Given the description of an element on the screen output the (x, y) to click on. 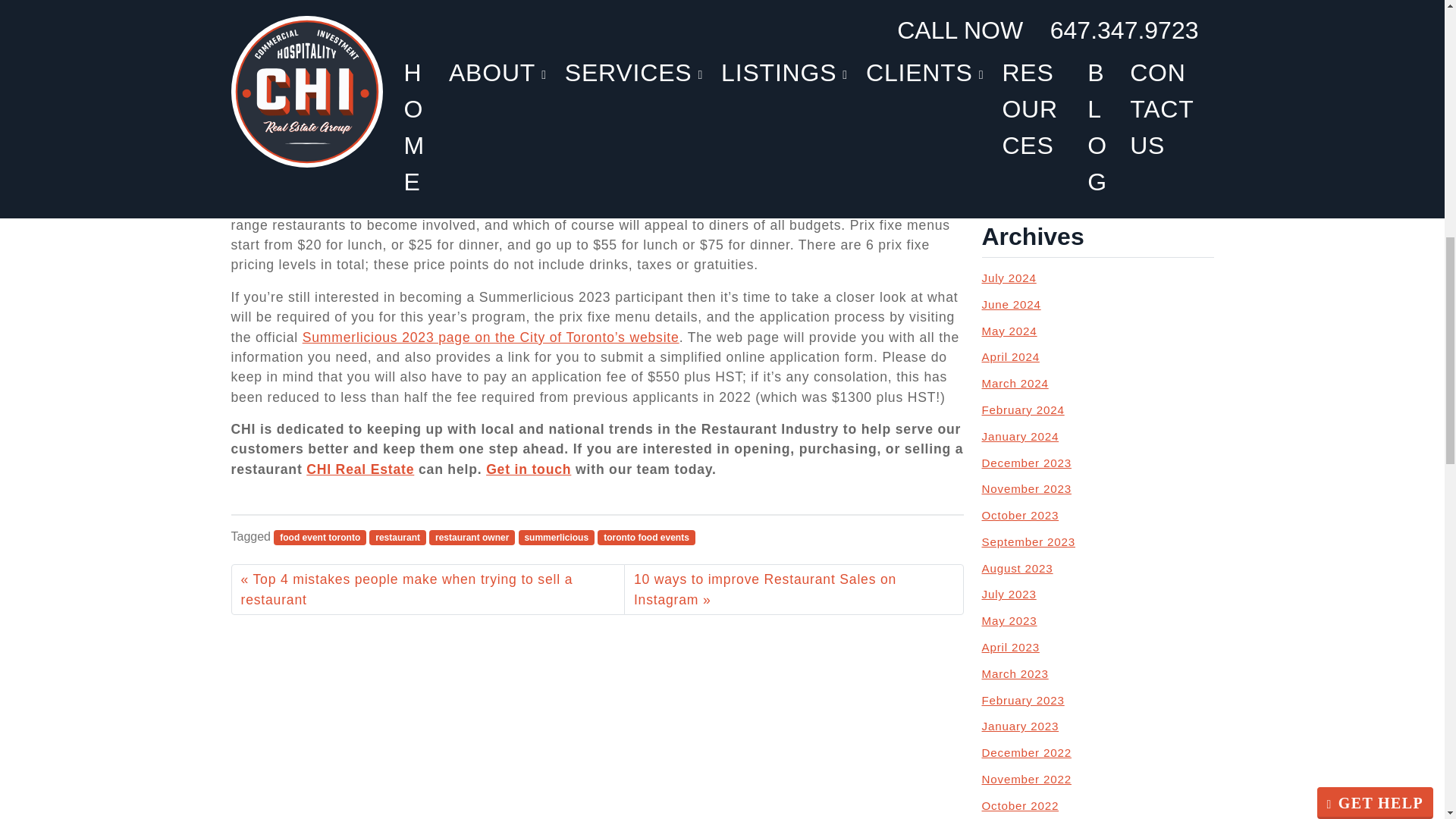
restaurant (397, 537)
CHI Real Estate (359, 468)
food event toronto (319, 537)
Get in touch (528, 468)
